Given the description of an element on the screen output the (x, y) to click on. 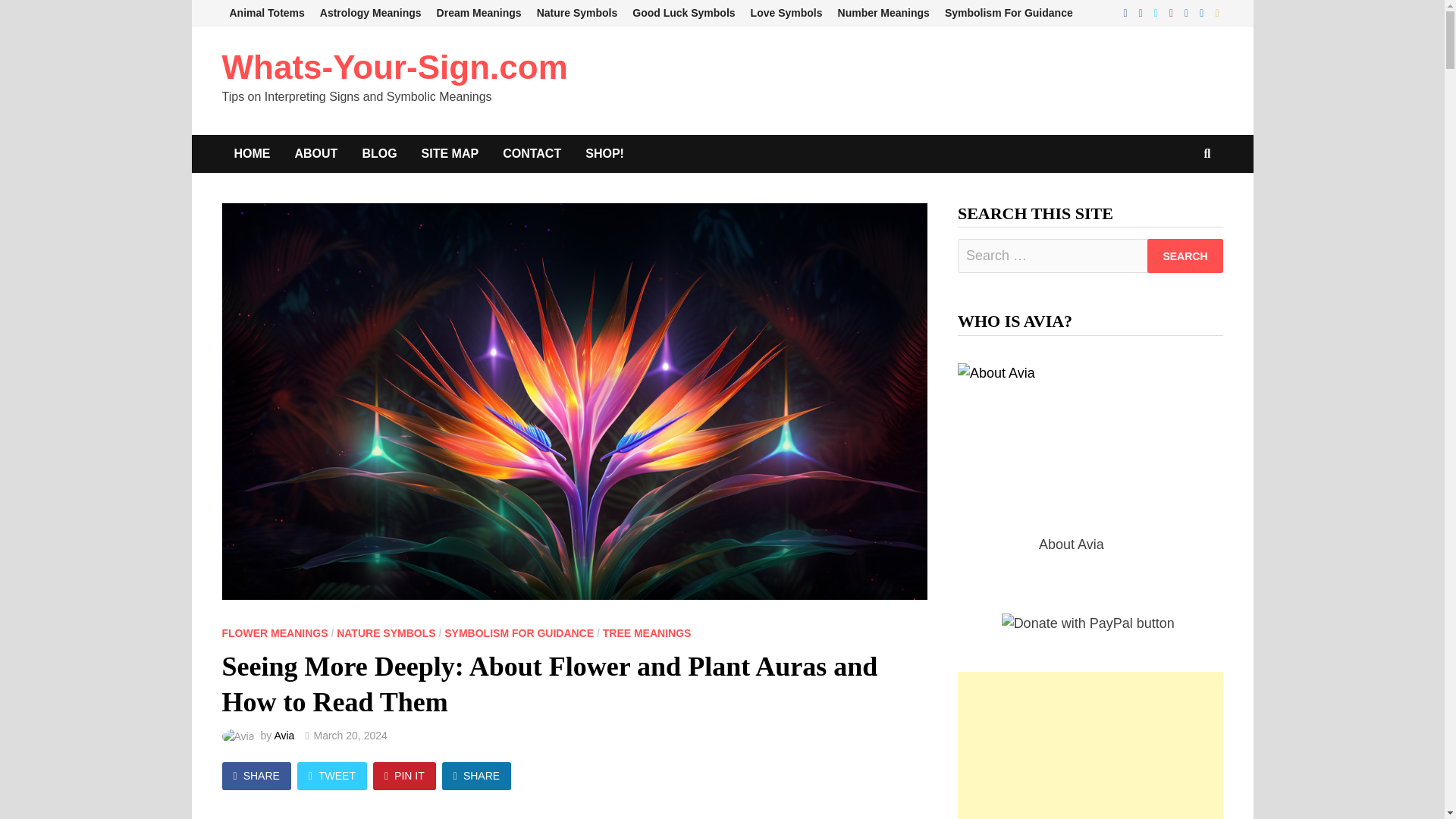
Nature Symbols (577, 13)
SITE MAP (450, 153)
Good Luck Symbols (683, 13)
Symbolism For Guidance (1008, 13)
SHOP! (604, 153)
ABOUT (315, 153)
Search (1185, 255)
Number Meanings (883, 13)
Pinterest (1173, 11)
Search (1185, 255)
Dream Meanings (479, 13)
Astrology Meanings (371, 13)
HOME (251, 153)
Instagram (1187, 11)
Animal Totems (266, 13)
